Given the description of an element on the screen output the (x, y) to click on. 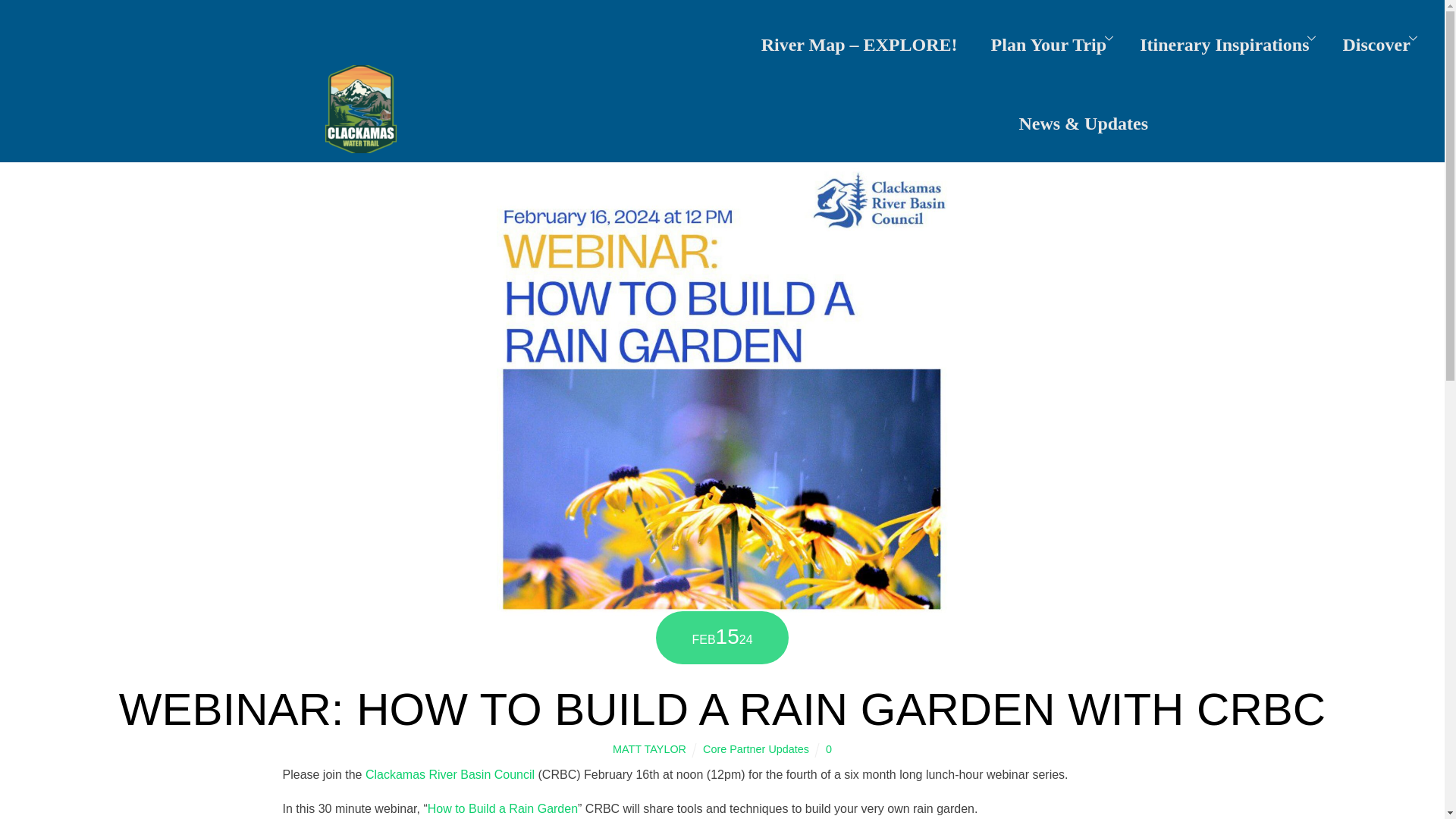
How to Build a Rain Garden (503, 808)
Plan Your Trip (1049, 39)
Core Partner Updates (756, 748)
Itinerary Inspirations (1224, 39)
WEBINAR: HOW TO BUILD A RAIN GARDEN WITH CRBC (721, 708)
Discover (1376, 39)
MATT TAYLOR (648, 748)
Clackamas River Basin Council (449, 774)
